Given the description of an element on the screen output the (x, y) to click on. 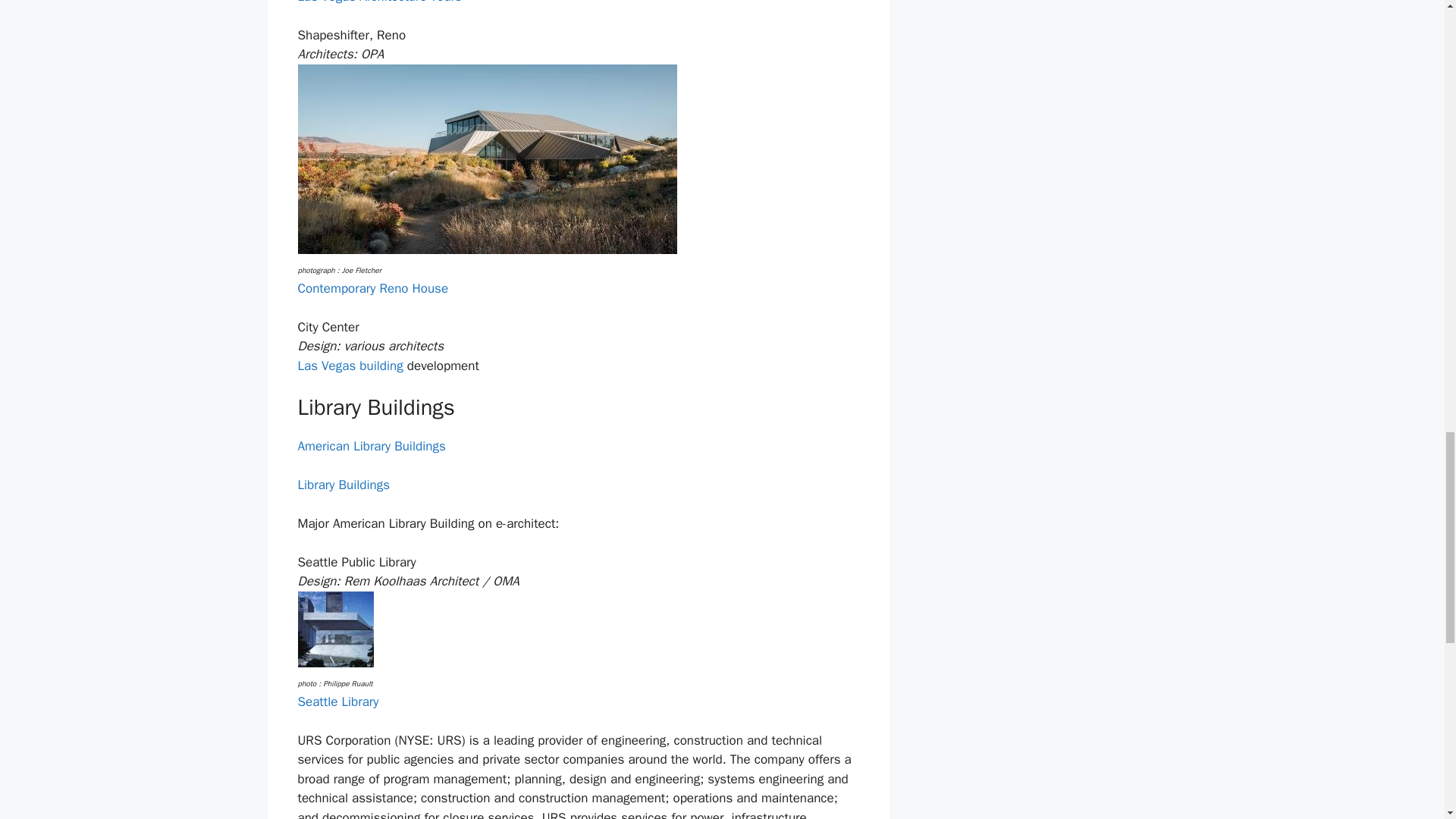
Las Vegas Architecture Tours (379, 2)
Seattle Library (337, 701)
American Library Buildings (371, 446)
Las Vegas building (350, 365)
Library Buildings (343, 484)
Contemporary Reno House (372, 288)
